Given the description of an element on the screen output the (x, y) to click on. 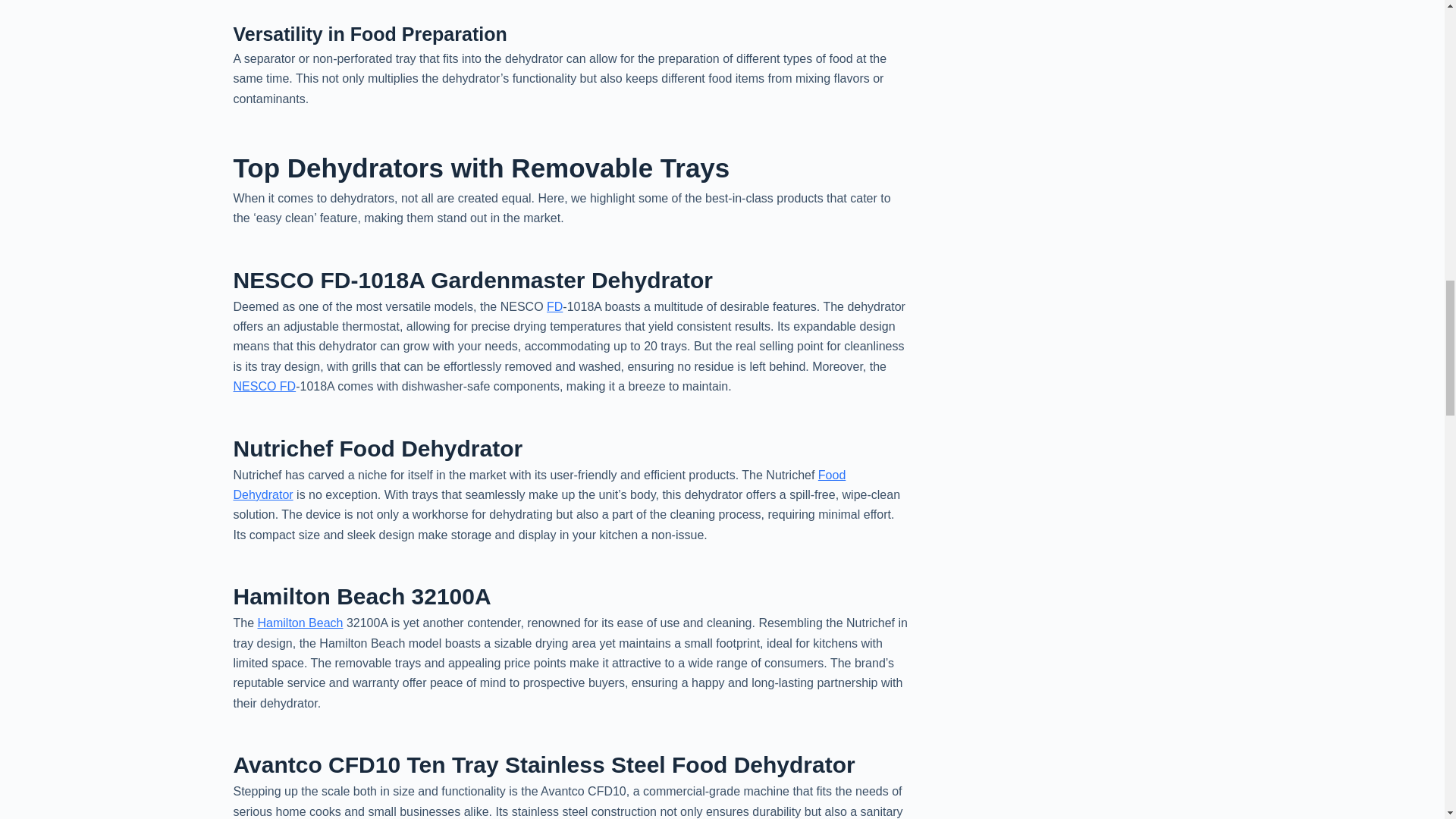
Food Dehydrator (538, 484)
FD (554, 306)
NESCO FD (264, 386)
